Given the description of an element on the screen output the (x, y) to click on. 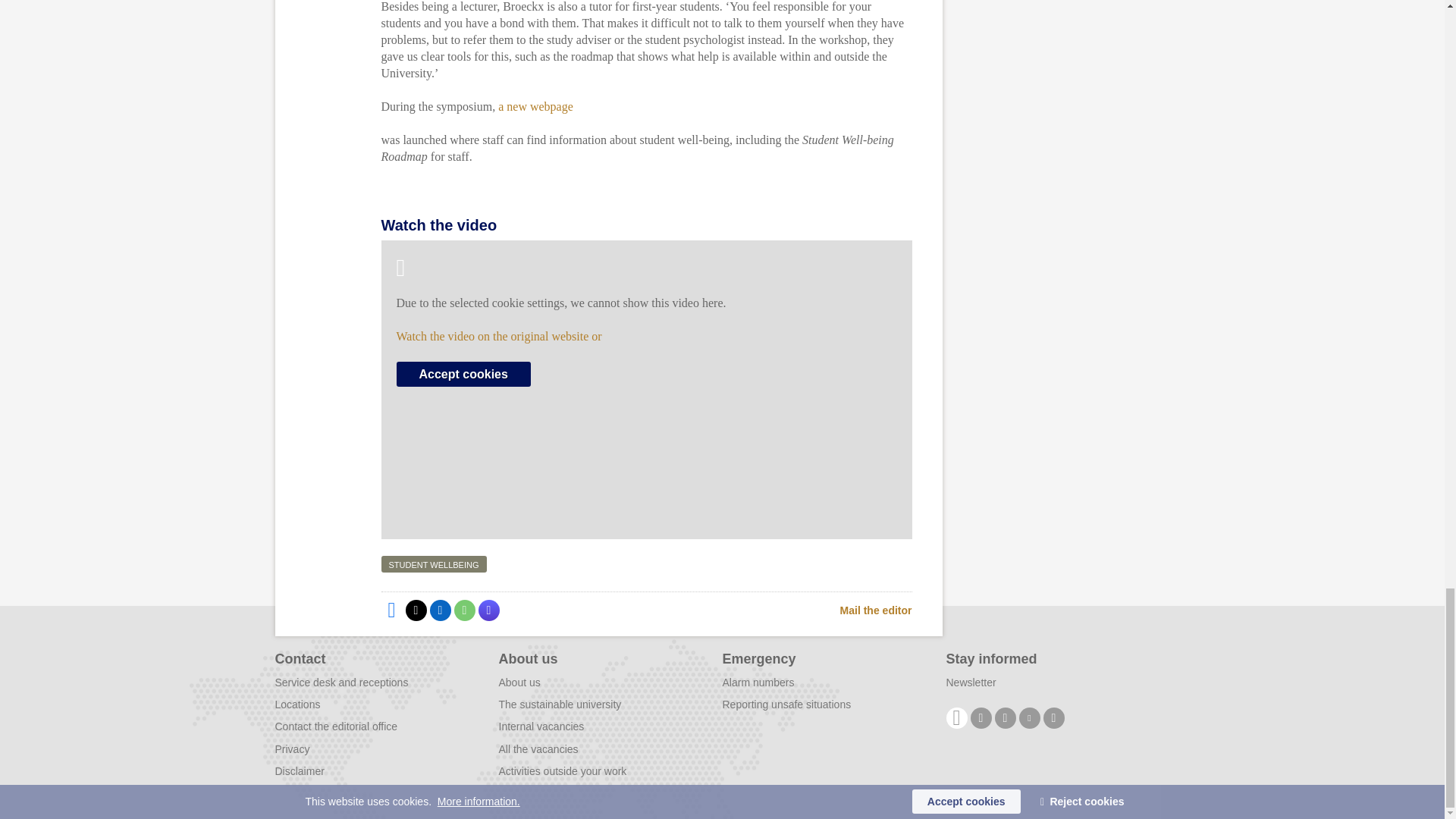
Share on Facebook (390, 609)
Share by WhatsApp (463, 609)
Share on LinkedIn (439, 609)
Share by Mastodon (488, 609)
Share on X (415, 609)
